Given the description of an element on the screen output the (x, y) to click on. 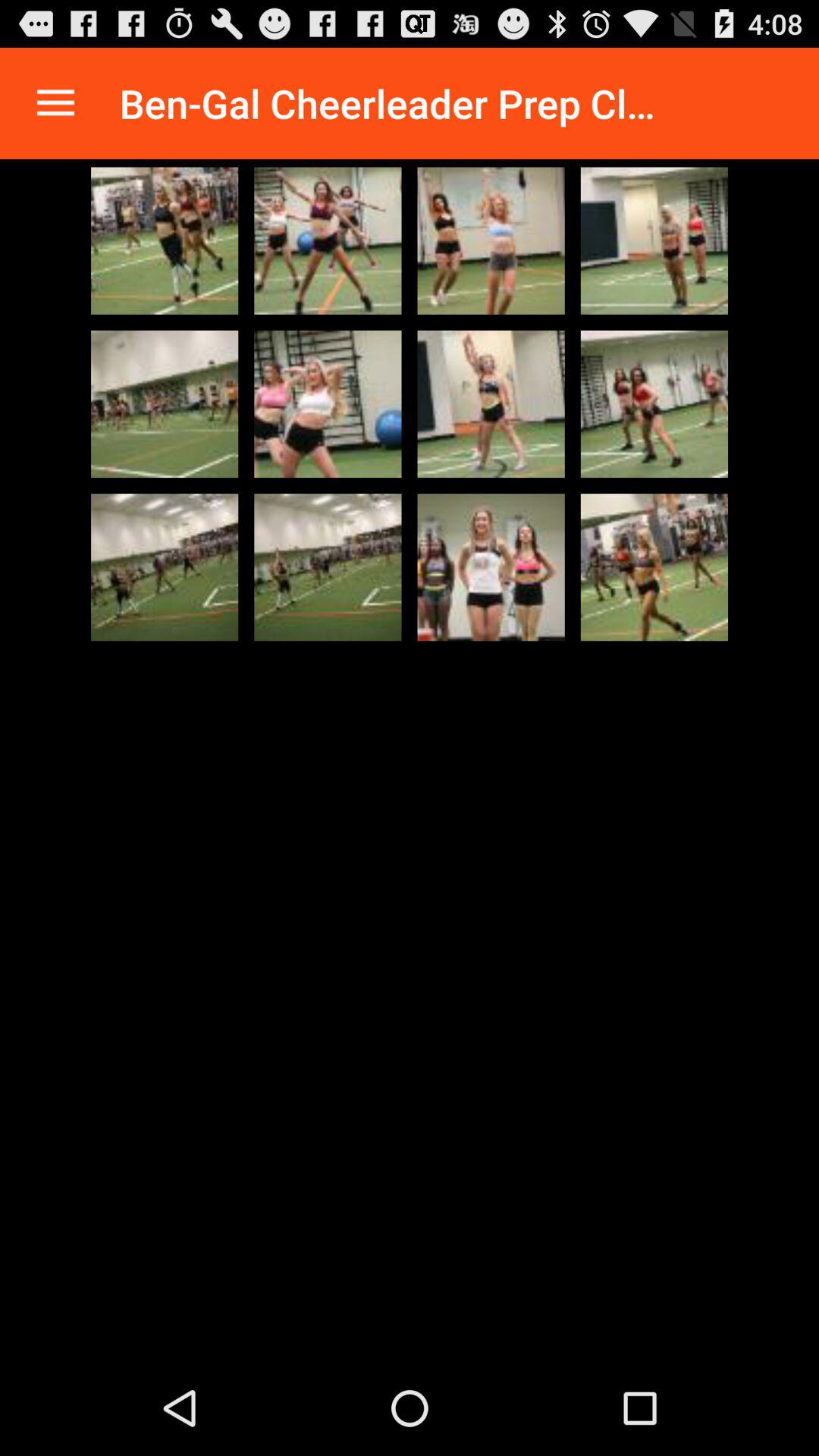
show the selected photograph (327, 566)
